Given the description of an element on the screen output the (x, y) to click on. 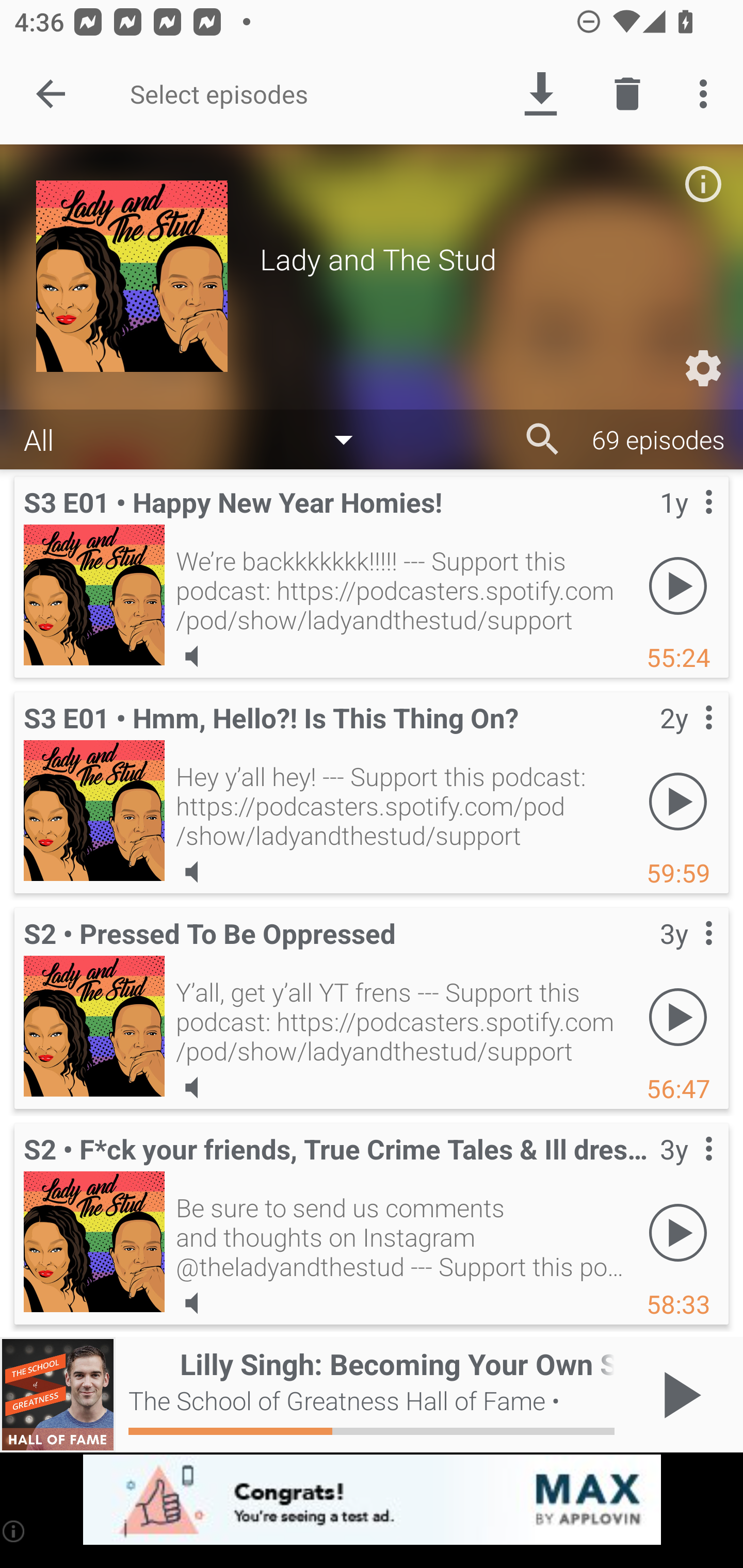
Done (50, 93)
Download (540, 93)
Delete episode (626, 93)
More options (706, 93)
Podcast description (703, 184)
Custom Settings (703, 368)
Search (542, 439)
All (197, 438)
Contextual menu (685, 522)
Happy New Year Homies! (93, 594)
Play (677, 585)
Contextual menu (685, 738)
Hmm, Hello?! Is This Thing On? (93, 810)
Play (677, 801)
Contextual menu (685, 954)
Pressed To Be Oppressed (93, 1026)
Play (677, 1016)
Contextual menu (685, 1169)
Play (677, 1232)
Play / Pause (677, 1394)
app-monetization (371, 1500)
(i) (14, 1531)
